Given the description of an element on the screen output the (x, y) to click on. 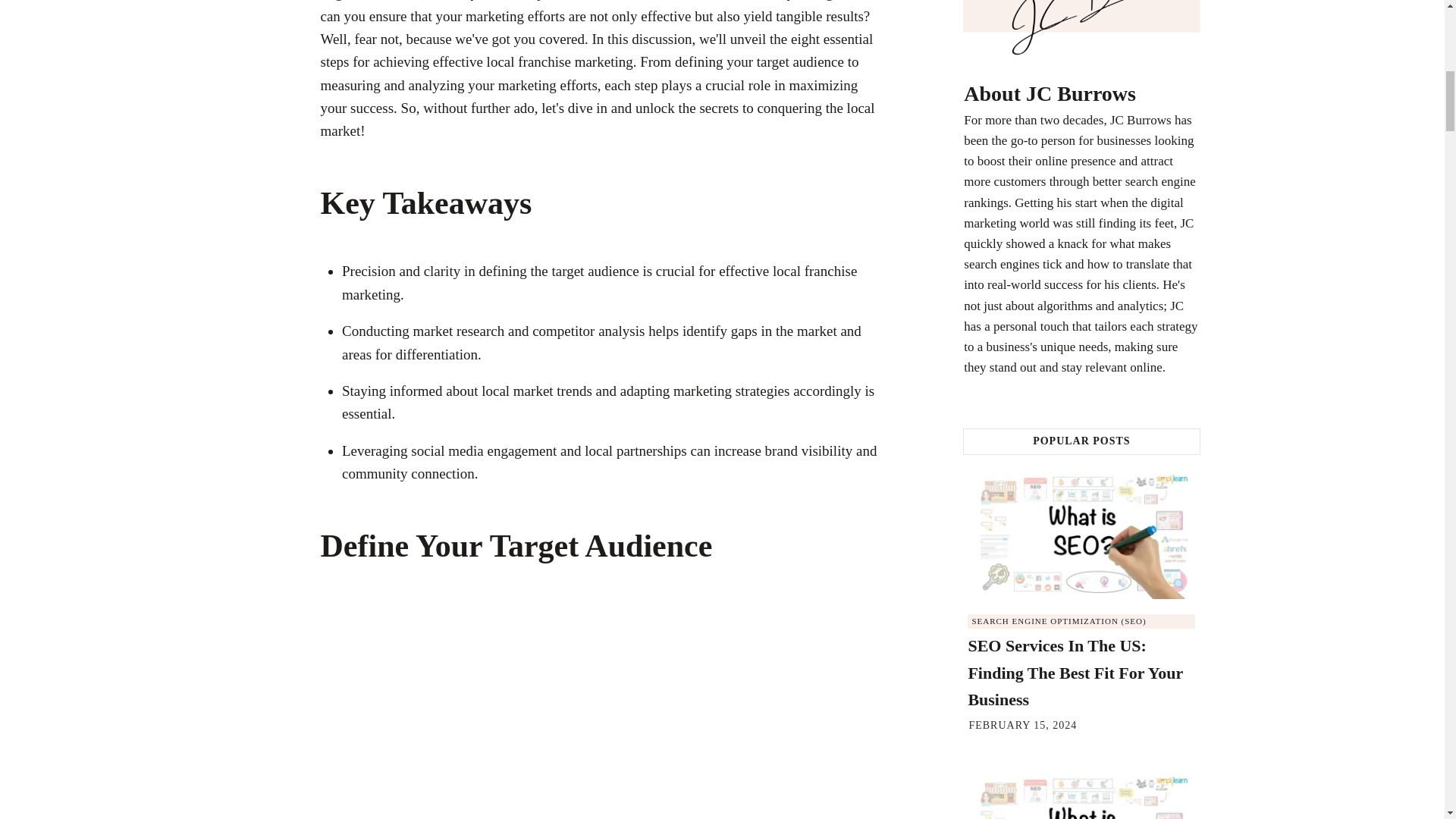
JC Burrows (1081, 28)
YouTube video player (603, 710)
